Given the description of an element on the screen output the (x, y) to click on. 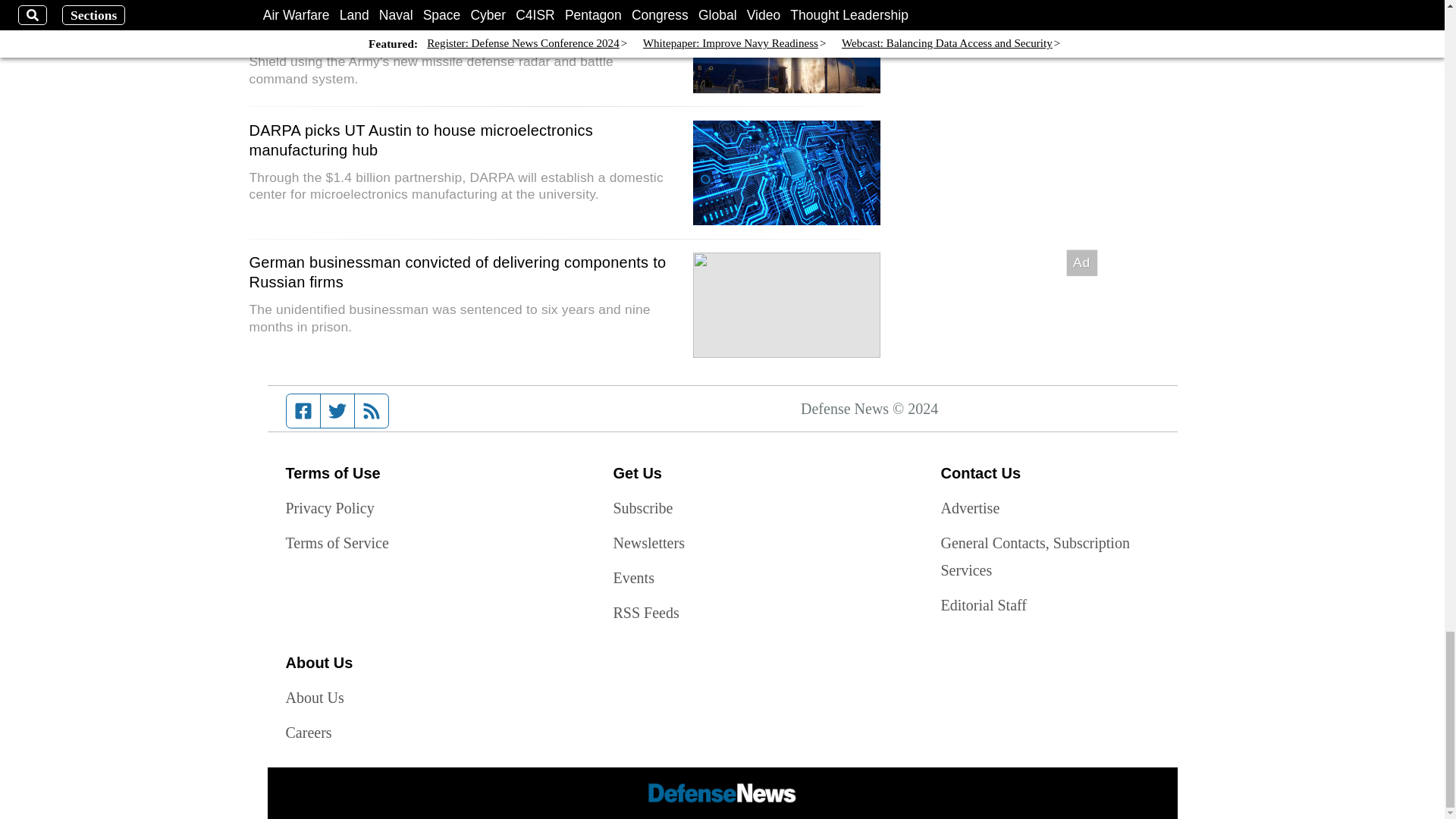
RSS feed (371, 410)
Facebook page (303, 410)
Twitter feed (336, 410)
